Given the description of an element on the screen output the (x, y) to click on. 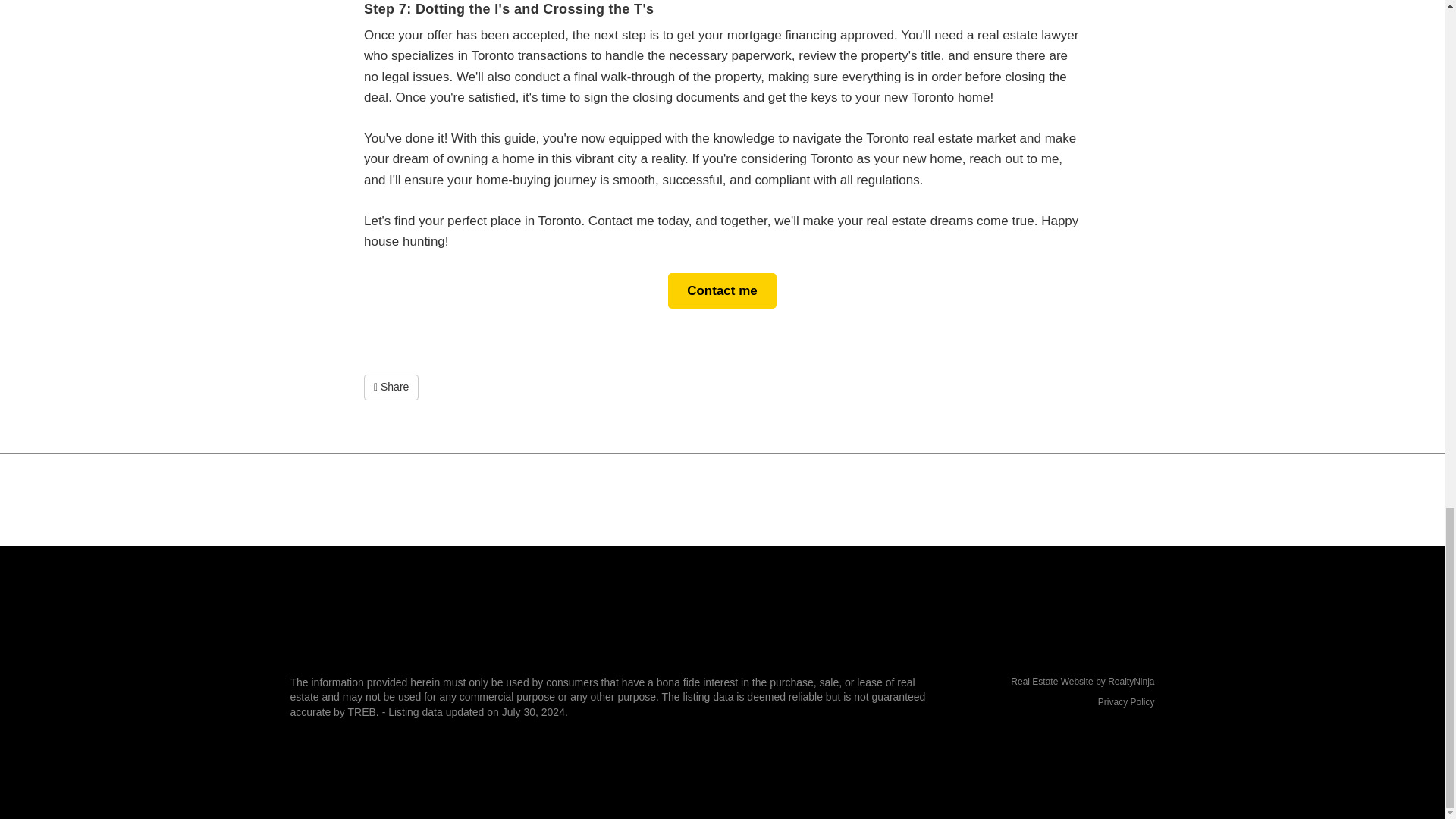
Real Estate Website by RealtyNinja (1054, 681)
Contact me (722, 290)
Share (391, 387)
Privacy Policy (1125, 701)
